Given the description of an element on the screen output the (x, y) to click on. 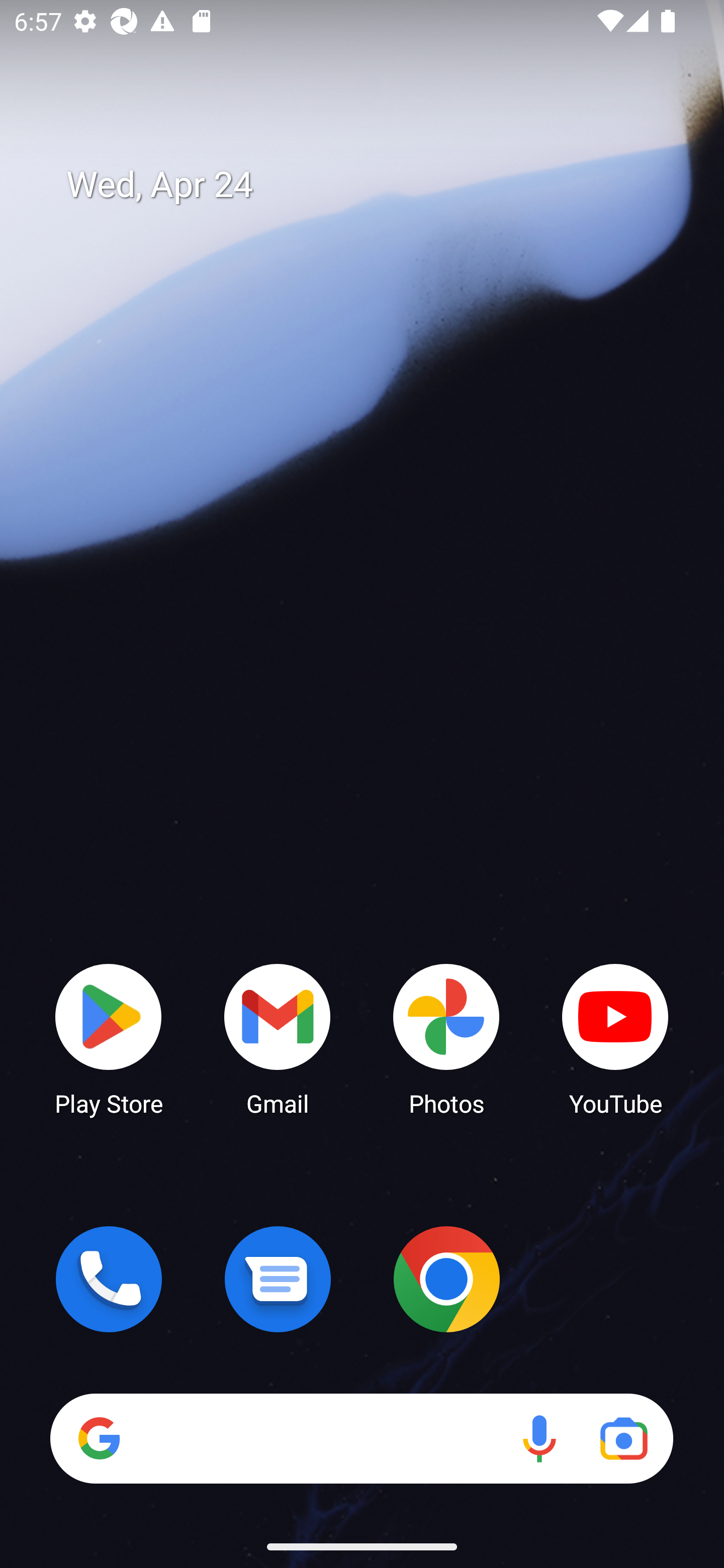
Wed, Apr 24 (375, 184)
Play Store (108, 1038)
Gmail (277, 1038)
Photos (445, 1038)
YouTube (615, 1038)
Phone (108, 1279)
Messages (277, 1279)
Chrome (446, 1279)
Search Voice search Google Lens (361, 1438)
Voice search (539, 1438)
Google Lens (623, 1438)
